Given the description of an element on the screen output the (x, y) to click on. 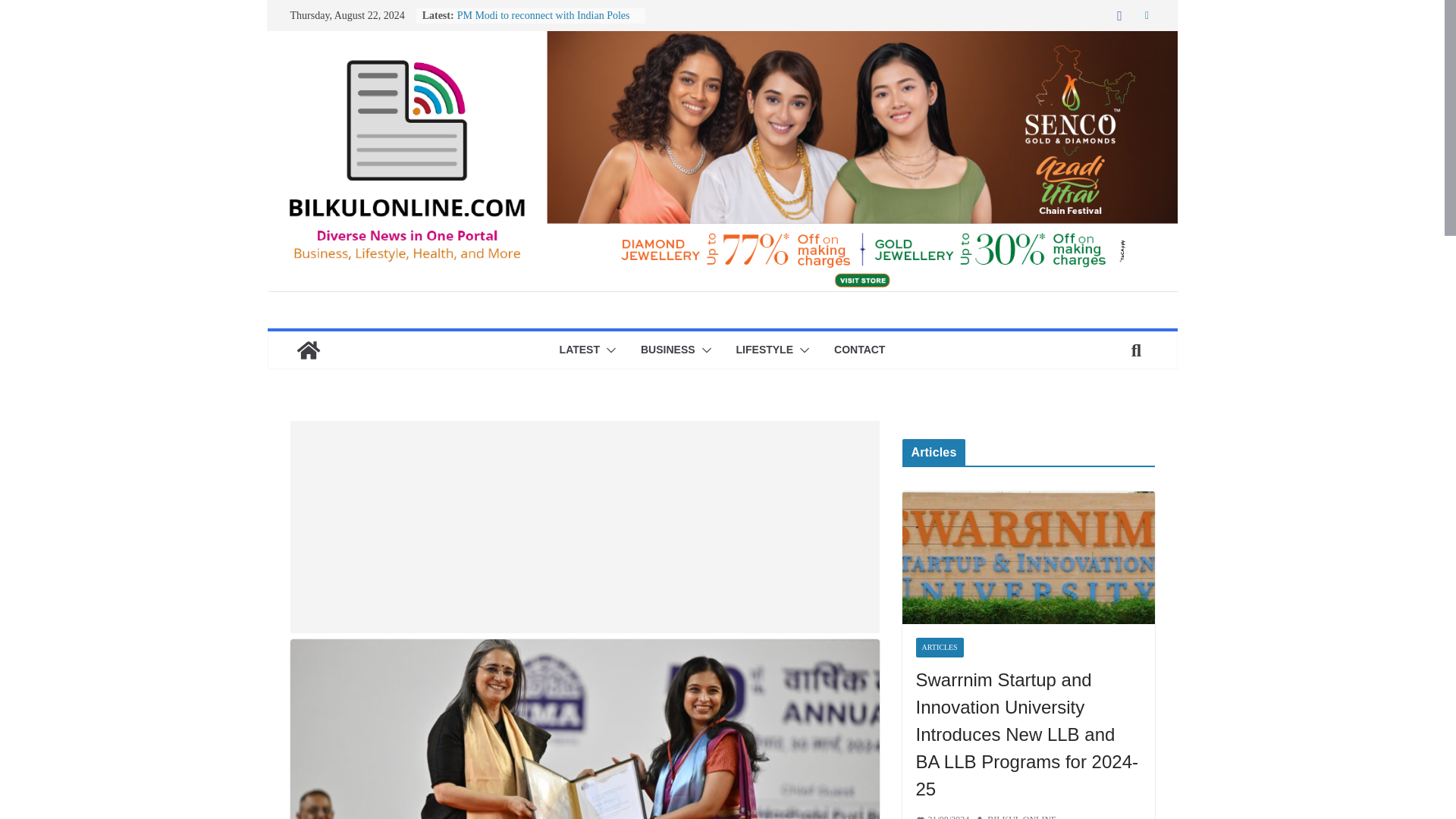
CONTACT (859, 350)
LIFESTYLE (764, 350)
Advertisement (584, 526)
LATEST (579, 350)
Bilkul Online (721, 41)
Bilkul Online (307, 350)
BUSINESS (667, 350)
